Given the description of an element on the screen output the (x, y) to click on. 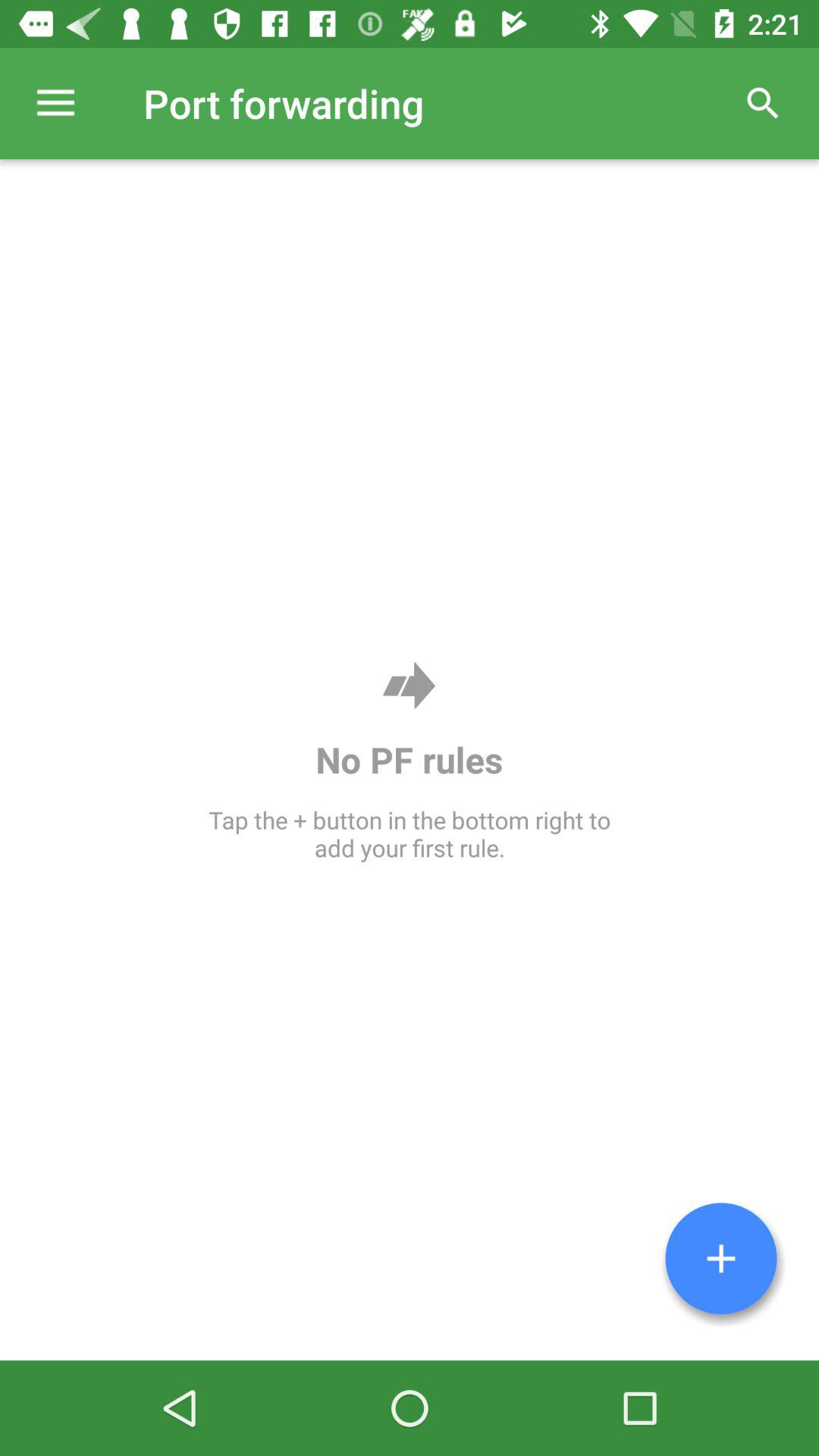
launch the icon to the left of the port forwarding item (55, 103)
